Given the description of an element on the screen output the (x, y) to click on. 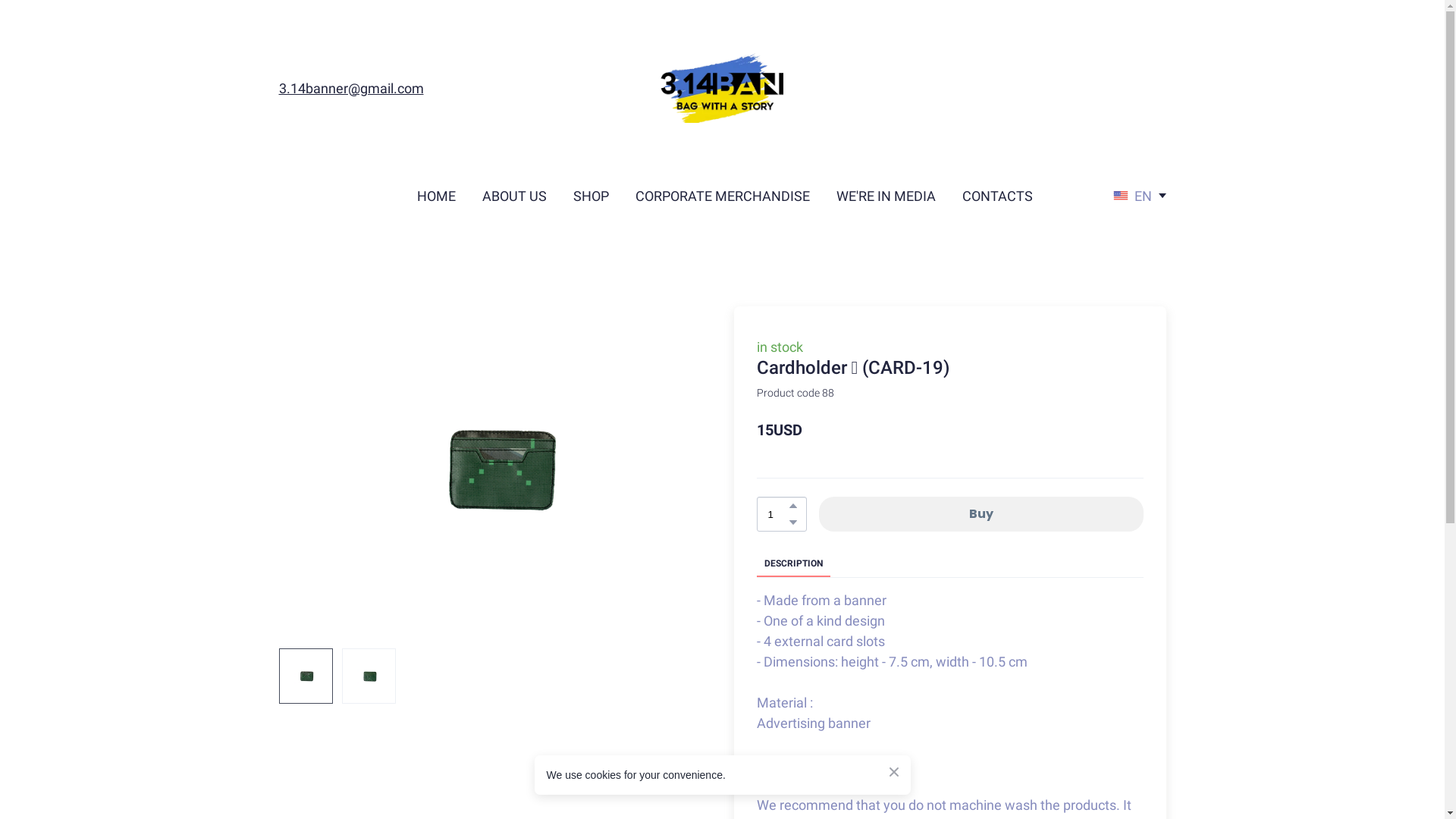
WE'RE IN MEDIA Element type: text (885, 195)
CONTACTS Element type: text (997, 195)
HOME Element type: text (436, 195)
CORPORATE MERCHANDISE Element type: text (722, 195)
SHOP Element type: text (590, 195)
ABOUT US Element type: text (514, 195)
Buy Element type: text (981, 513)
